Given the description of an element on the screen output the (x, y) to click on. 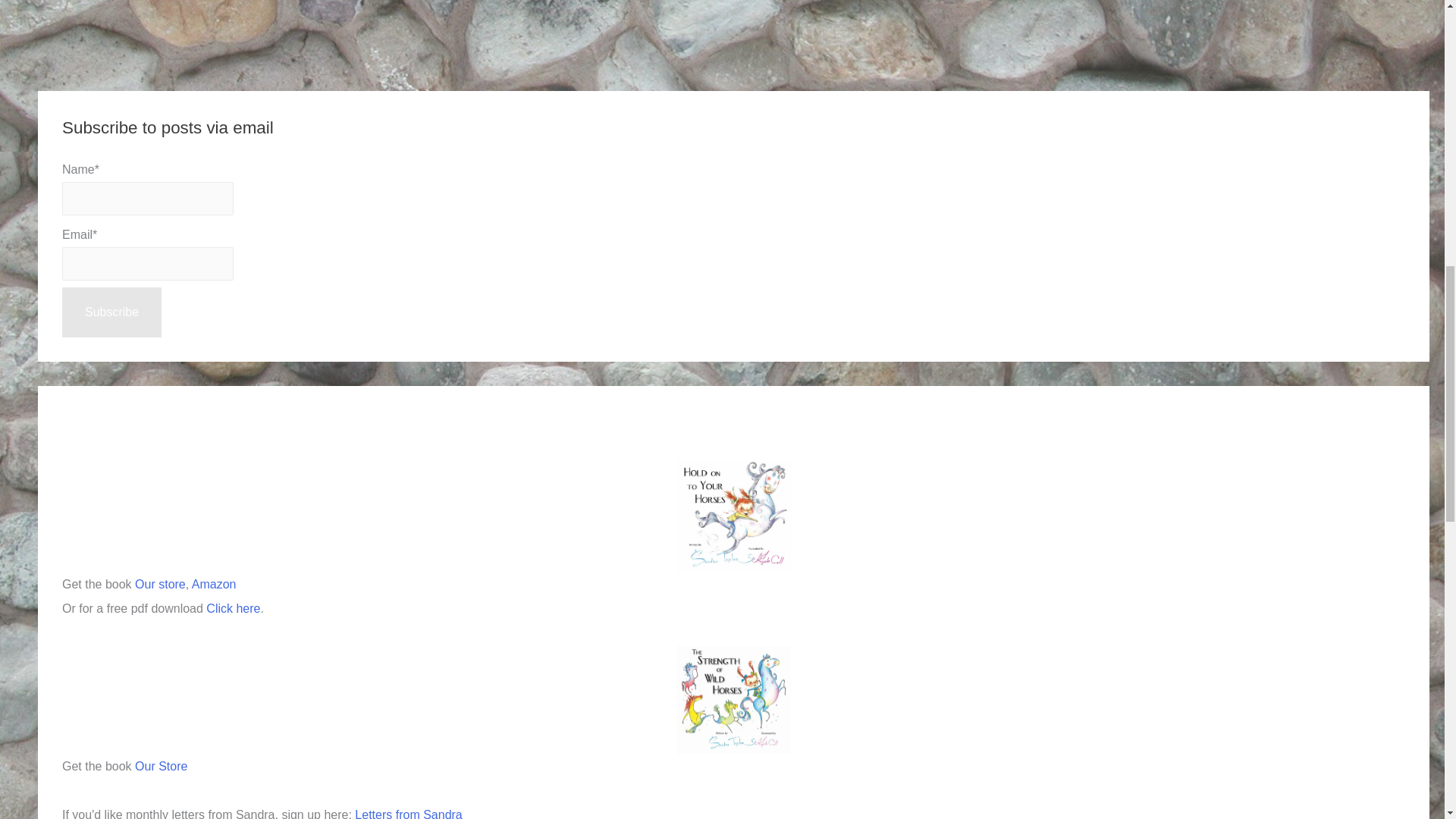
Subscribe (111, 312)
Amazon (213, 584)
Front Cover web (733, 699)
Click here (233, 608)
Subscribe (111, 312)
Our store (160, 584)
Letters from Sandra (408, 813)
Our Store (161, 766)
Front Cover web (733, 515)
